Given the description of an element on the screen output the (x, y) to click on. 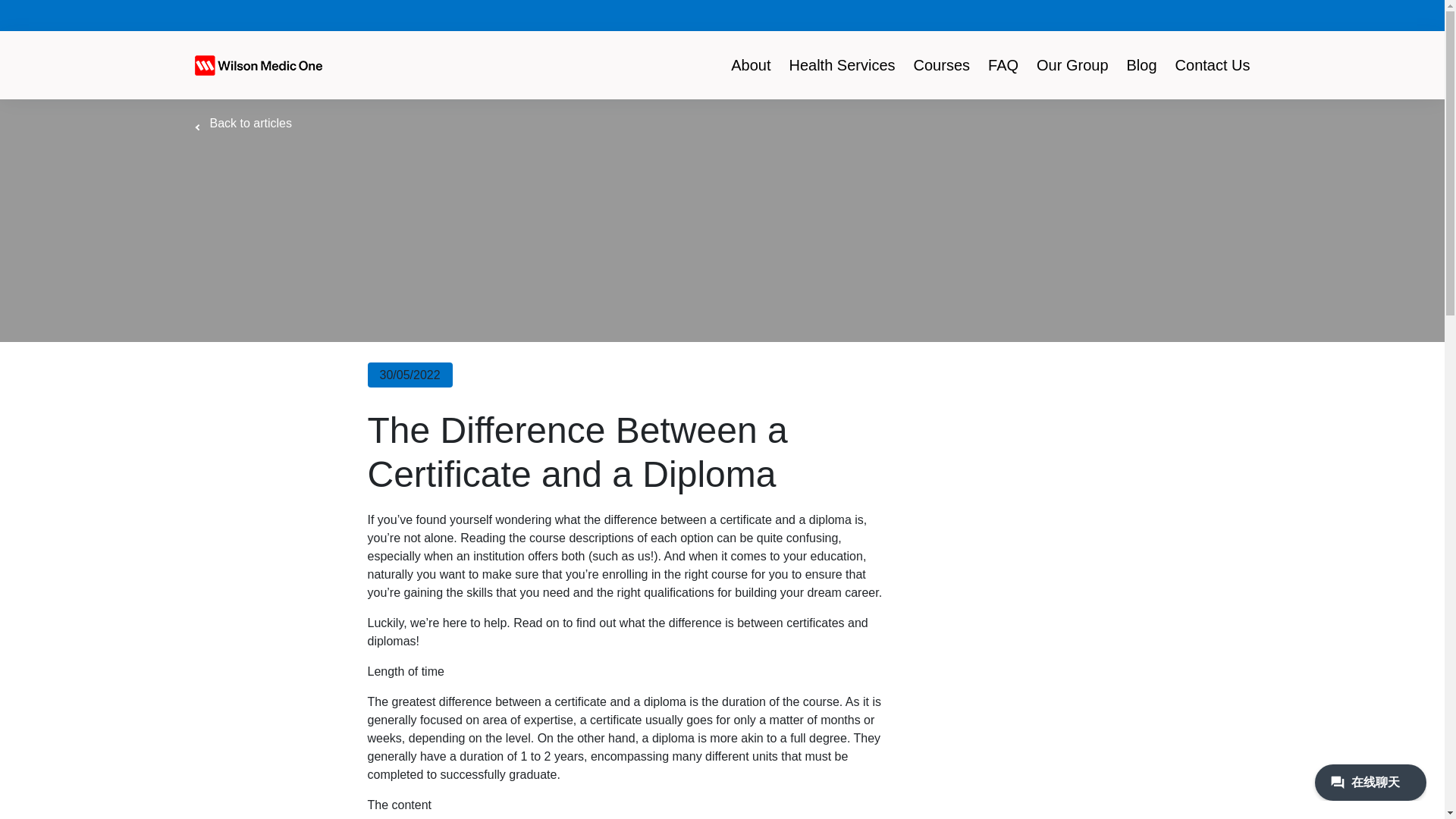
Our Group (1071, 65)
Contact Us (990, 64)
Courses (1212, 65)
Blog (941, 65)
Health Services (1142, 65)
About (841, 65)
Back to articles (750, 65)
FAQ (237, 123)
